Given the description of an element on the screen output the (x, y) to click on. 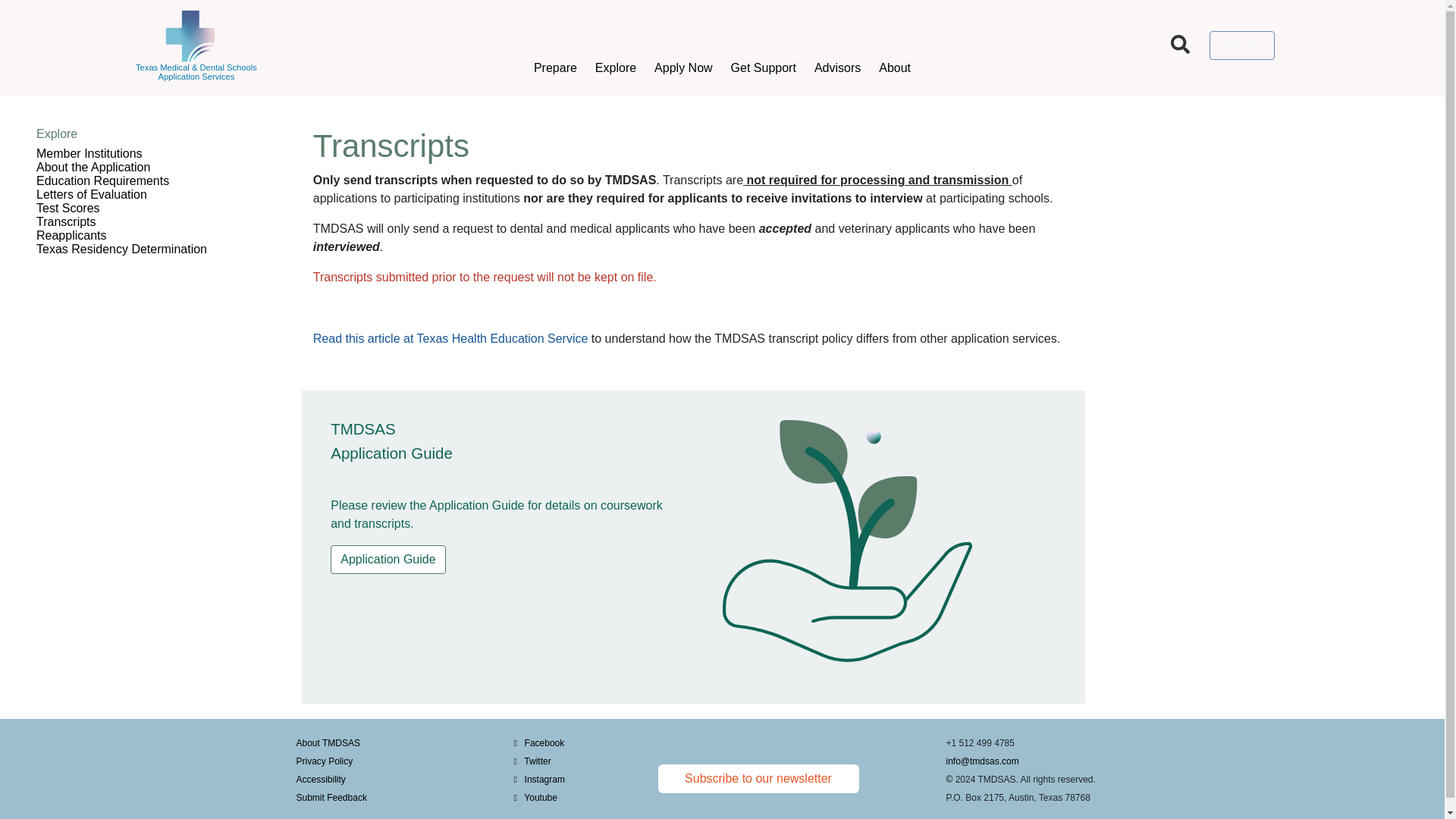
Apply Now (682, 48)
Skip to main content (11, 102)
search (1179, 44)
Get Support (763, 48)
Advisors (837, 48)
